Given the description of an element on the screen output the (x, y) to click on. 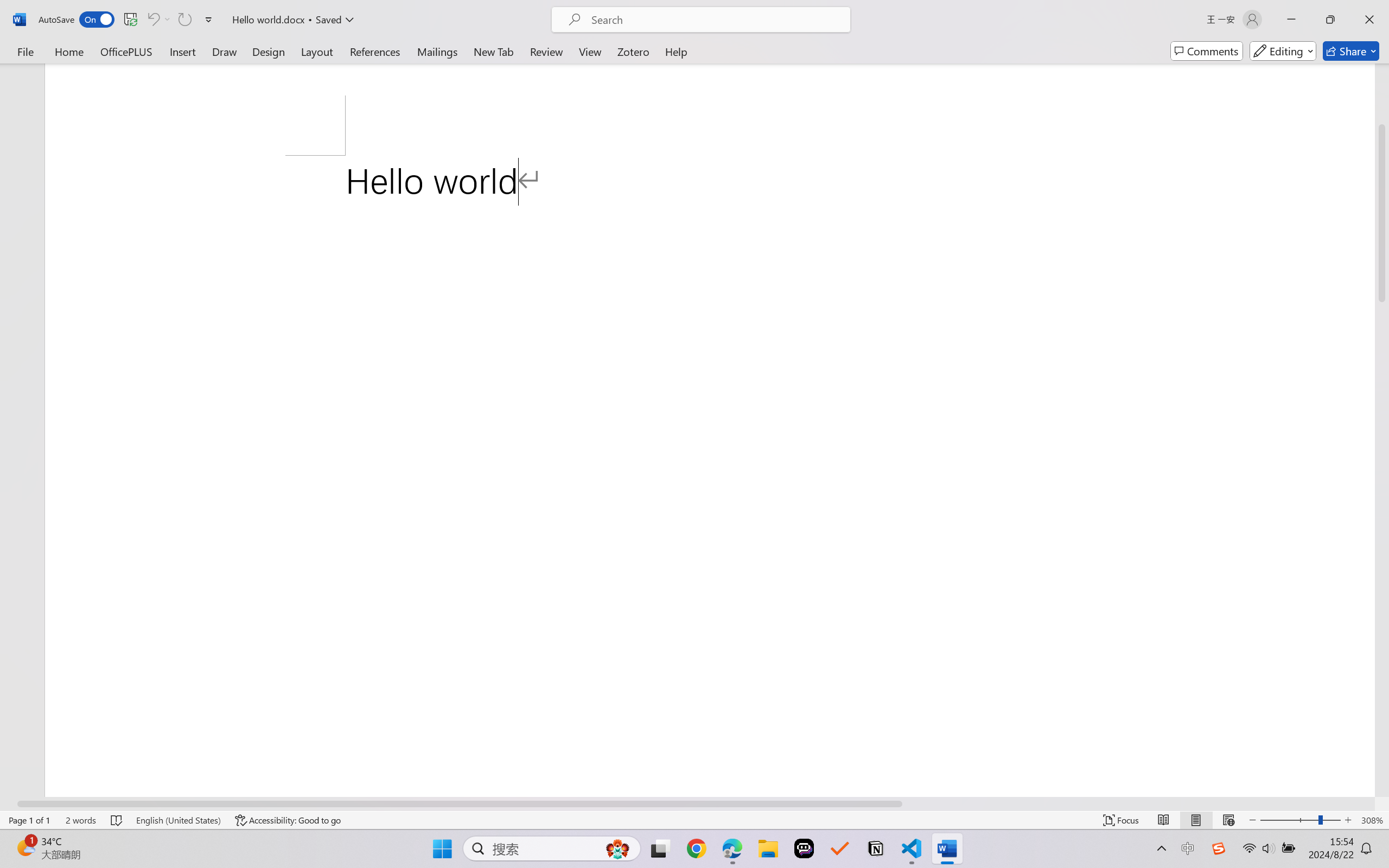
Help (675, 51)
Close (1369, 19)
Share (1350, 51)
Layout (316, 51)
Save (130, 19)
Insert (182, 51)
Page Number Page 1 of 1 (29, 819)
Spelling and Grammar Check No Errors (117, 819)
View (589, 51)
OfficePLUS (126, 51)
AutomationID: BadgeAnchorLargeTicker (24, 847)
Accessibility Checker Accessibility: Good to go (288, 819)
Can't Undo (152, 19)
Can't Repeat (184, 19)
